Given the description of an element on the screen output the (x, y) to click on. 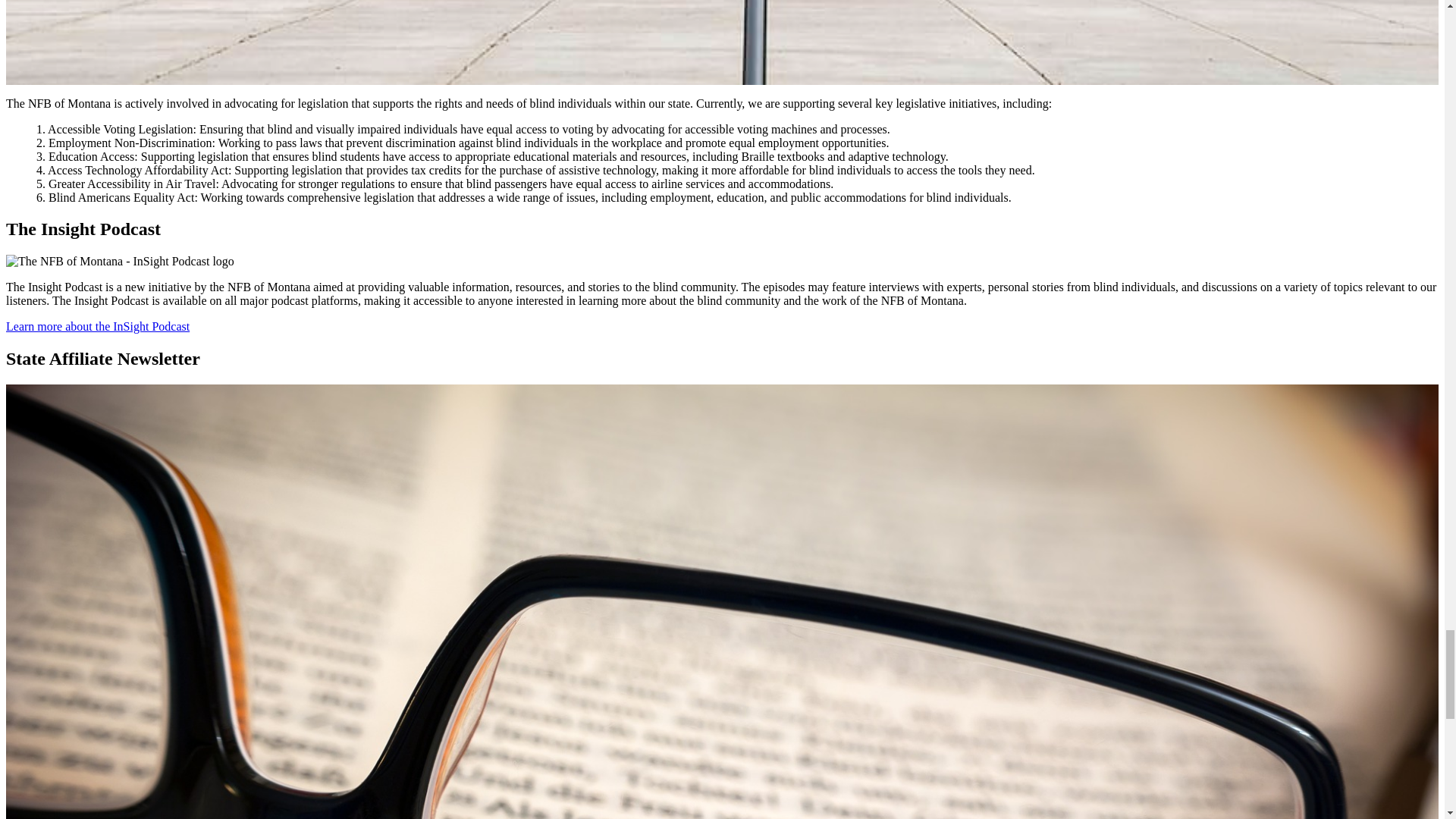
Learn more about the InSight Podcast (97, 326)
